Given the description of an element on the screen output the (x, y) to click on. 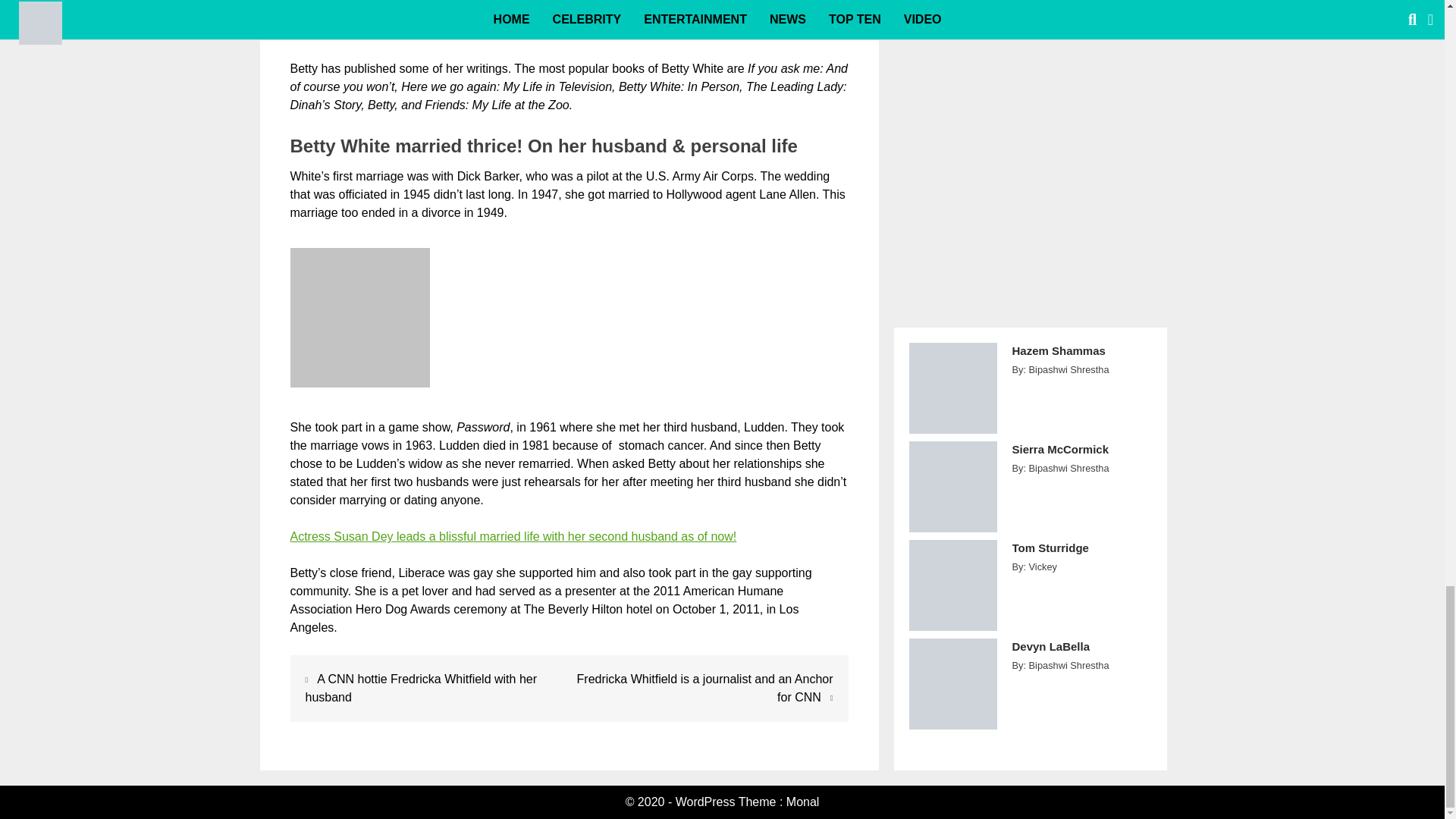
Fredricka Whitfield is a journalist and an Anchor for CNN (704, 687)
Betty White's married life with Ludden. (359, 317)
A CNN hottie Fredricka Whitfield with her husband (420, 687)
Susan Dey (512, 535)
